Given the description of an element on the screen output the (x, y) to click on. 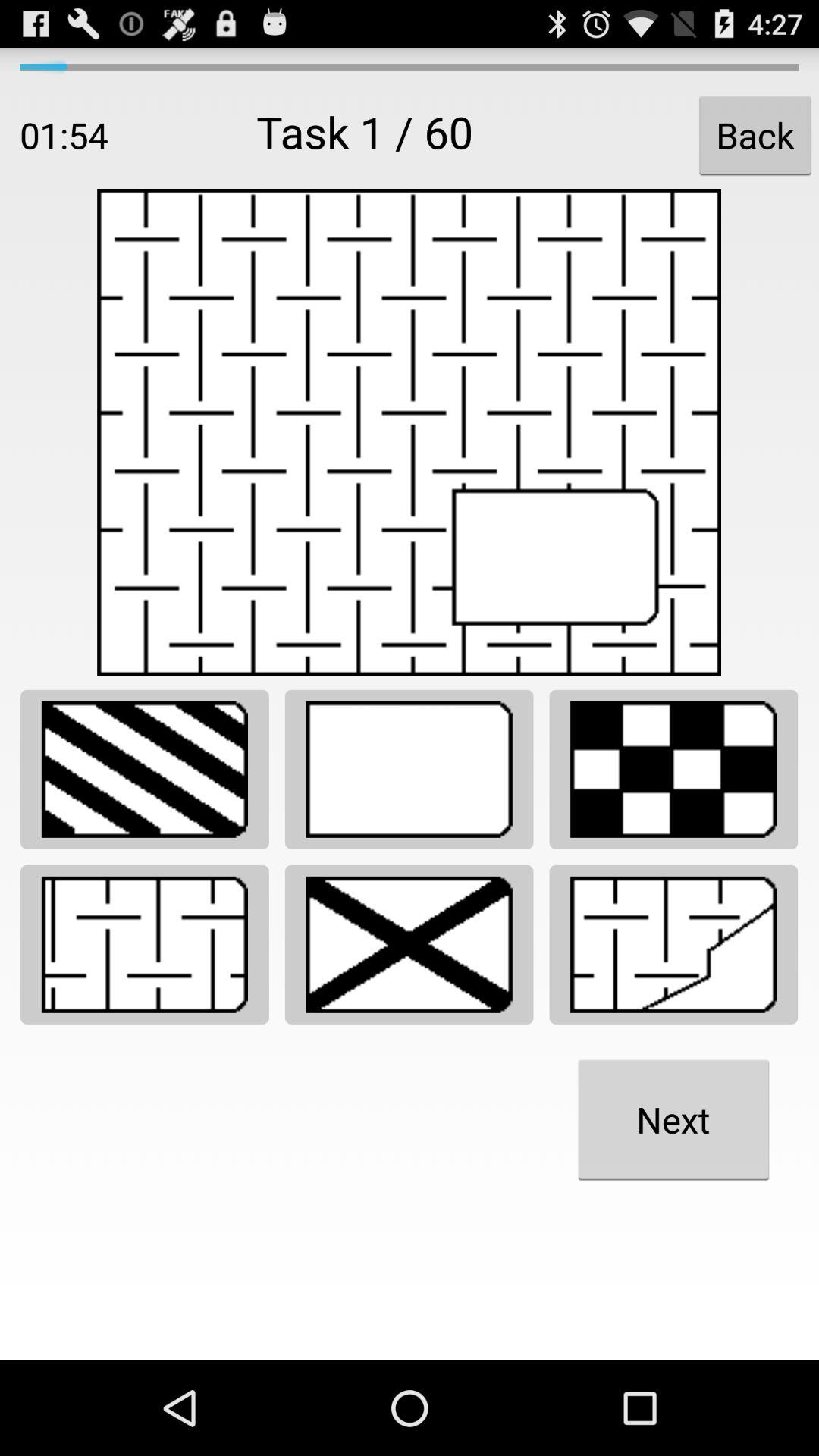
layout change (673, 769)
